Given the description of an element on the screen output the (x, y) to click on. 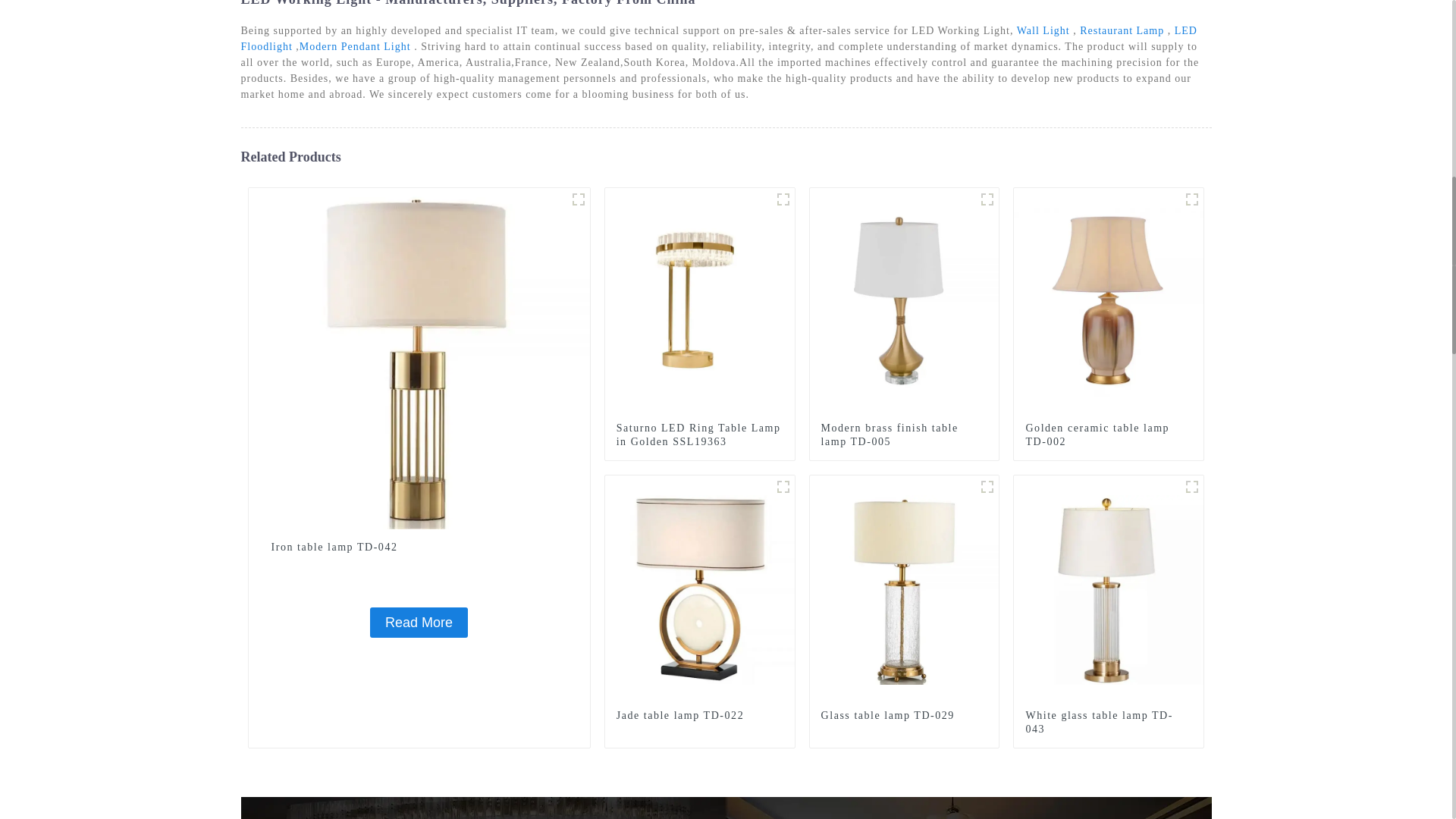
Restaurant Lamp (1121, 30)
2169 (782, 486)
Restaurant Lamp (1121, 30)
Saturno LED Ring Table Lamp in Golden SSL19363 (699, 434)
Modern Pendant Light (354, 46)
LED Floodlight (718, 38)
Wall Light (1043, 30)
LED Floodlight (718, 38)
Wall Light (1043, 30)
Modern Pendant Light (354, 46)
Golden ceramic table lamp  TD-002 (1108, 301)
2150 (986, 199)
2142 (1192, 199)
Golden ceramic table lamp  TD-002 (1108, 434)
Iron table lamp  TD-042 (418, 622)
